Given the description of an element on the screen output the (x, y) to click on. 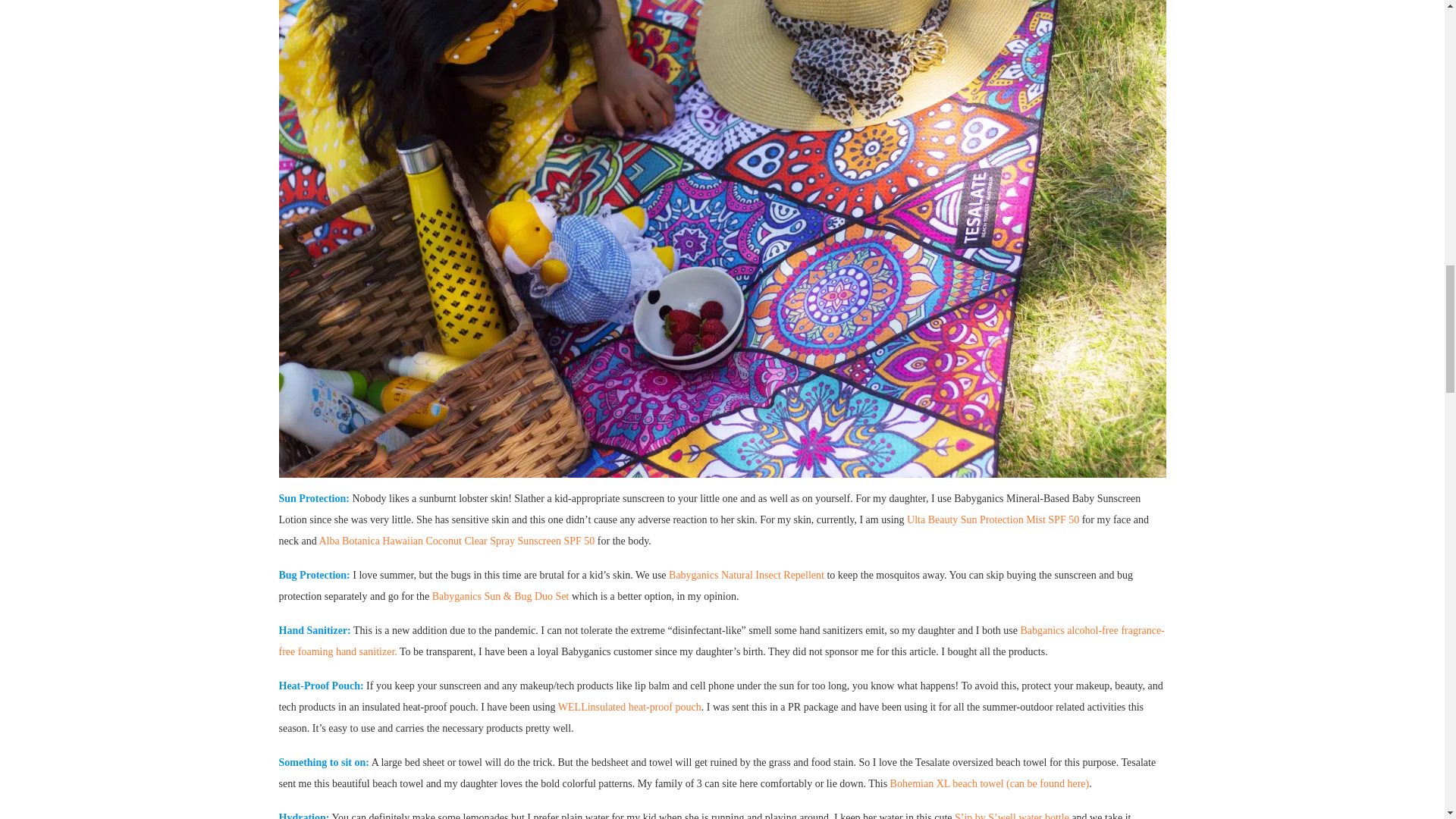
Babyganics Natural Insect Repellent (746, 574)
WELLinsulated heat-proof pouch (629, 706)
Alba Botanica Hawaiian Coconut Clear Spray Sunscreen SPF 50 (456, 541)
Ulta Beauty Sun Protection Mist SPF 50 (992, 519)
